Given the description of an element on the screen output the (x, y) to click on. 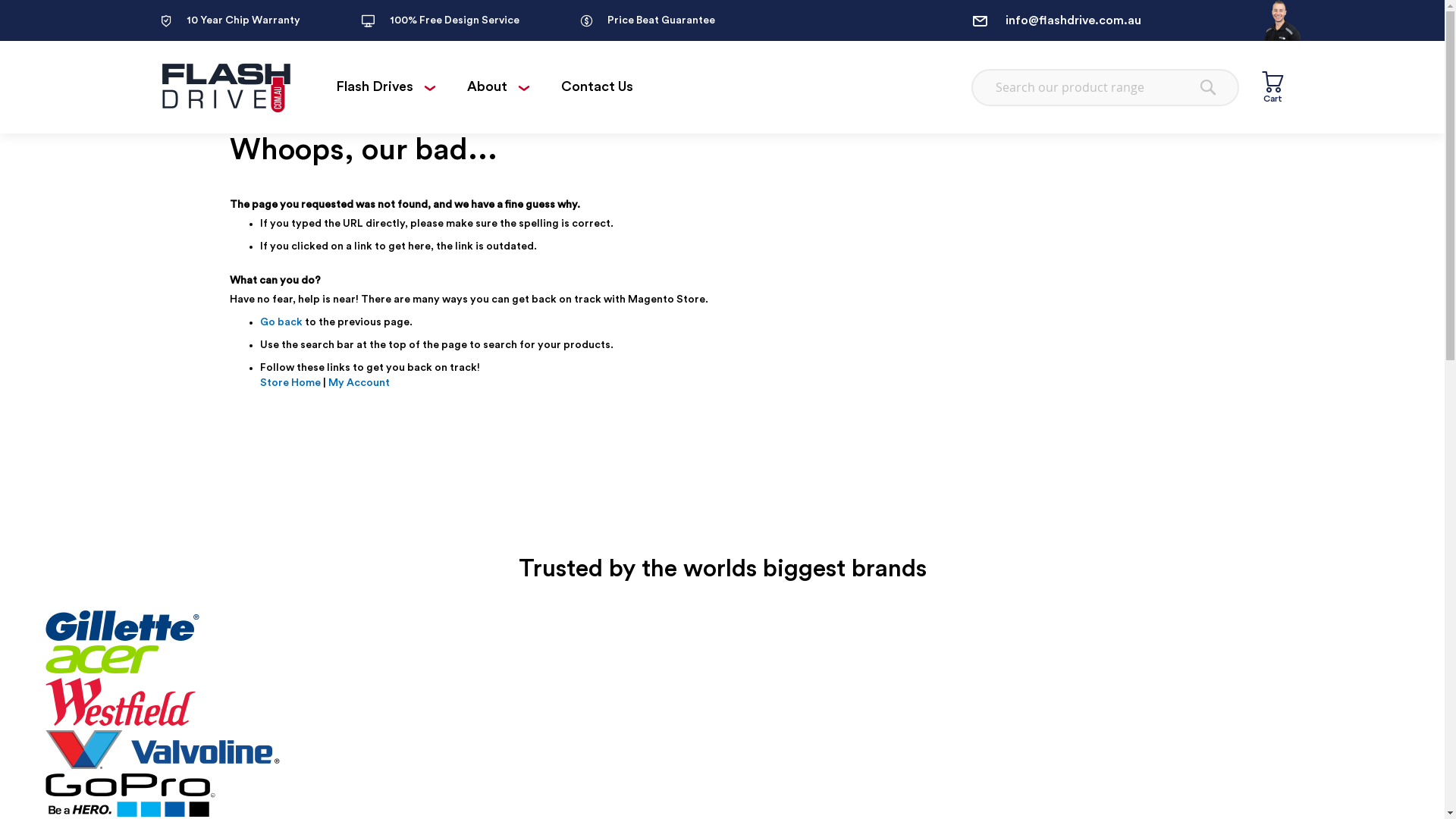
Price Beat Guarantee Element type: text (646, 20)
Contact Us Element type: text (597, 86)
About Element type: text (500, 86)
Flash Drives Element type: text (386, 86)
100% Free Design Service Element type: text (439, 20)
Store Home Element type: text (289, 382)
10 Year Chip Warranty Element type: text (229, 20)
Cart Element type: text (1272, 86)
Go back Element type: text (280, 321)
1300 698 522 Element type: text (1127, 60)
Flash Drive Australia Element type: hover (224, 86)
Search Element type: text (1207, 86)
My Account Element type: text (358, 382)
 info@flashdrive.com.au Element type: text (1127, 20)
